Given the description of an element on the screen output the (x, y) to click on. 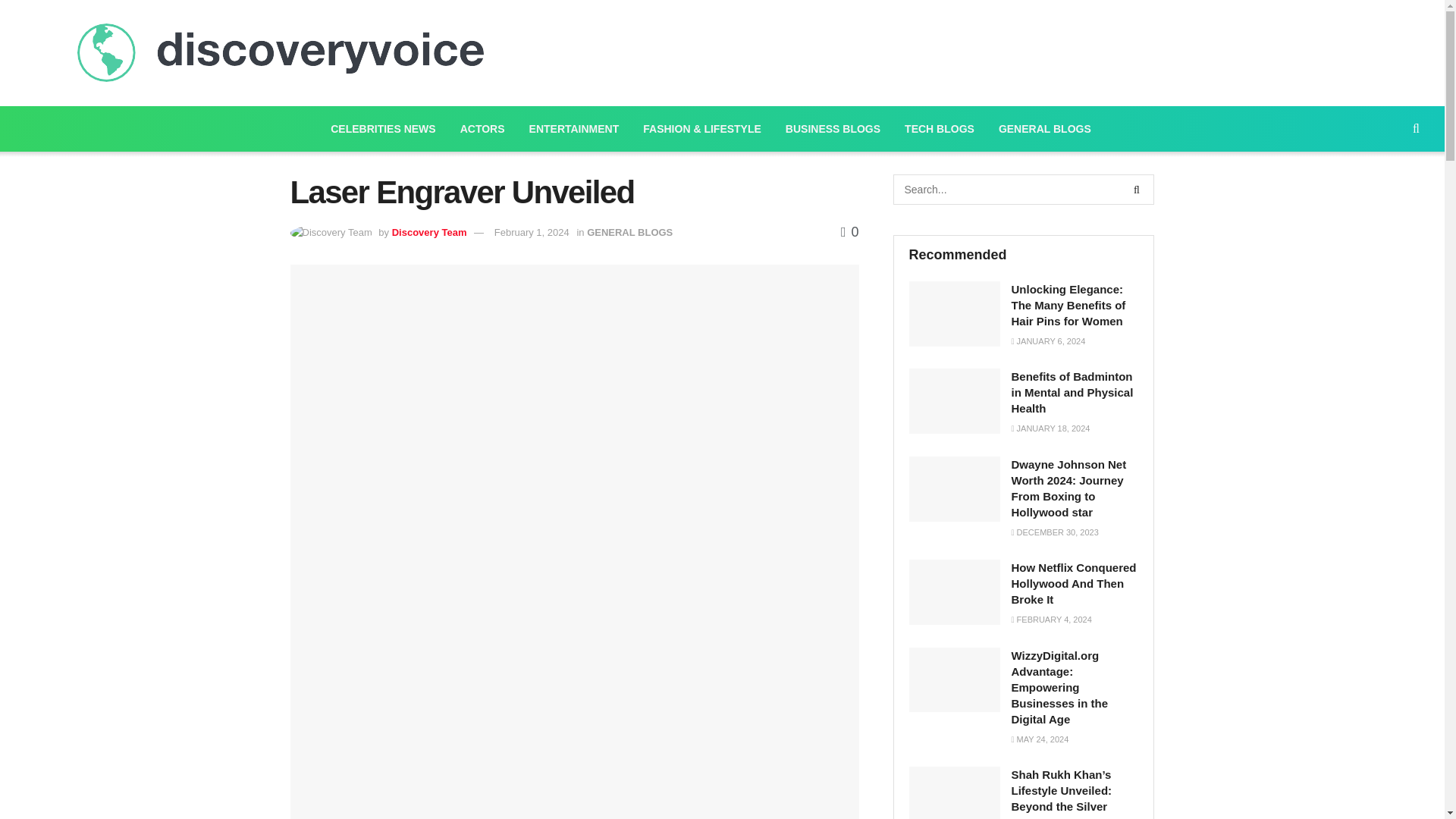
ENTERTAINMENT (573, 128)
Discovery Team (429, 232)
TECH BLOGS (939, 128)
GENERAL BLOGS (1045, 128)
GENERAL BLOGS (629, 232)
February 1, 2024 (532, 232)
ACTORS (482, 128)
BUSINESS BLOGS (832, 128)
0 (850, 231)
CELEBRITIES NEWS (382, 128)
